Given the description of an element on the screen output the (x, y) to click on. 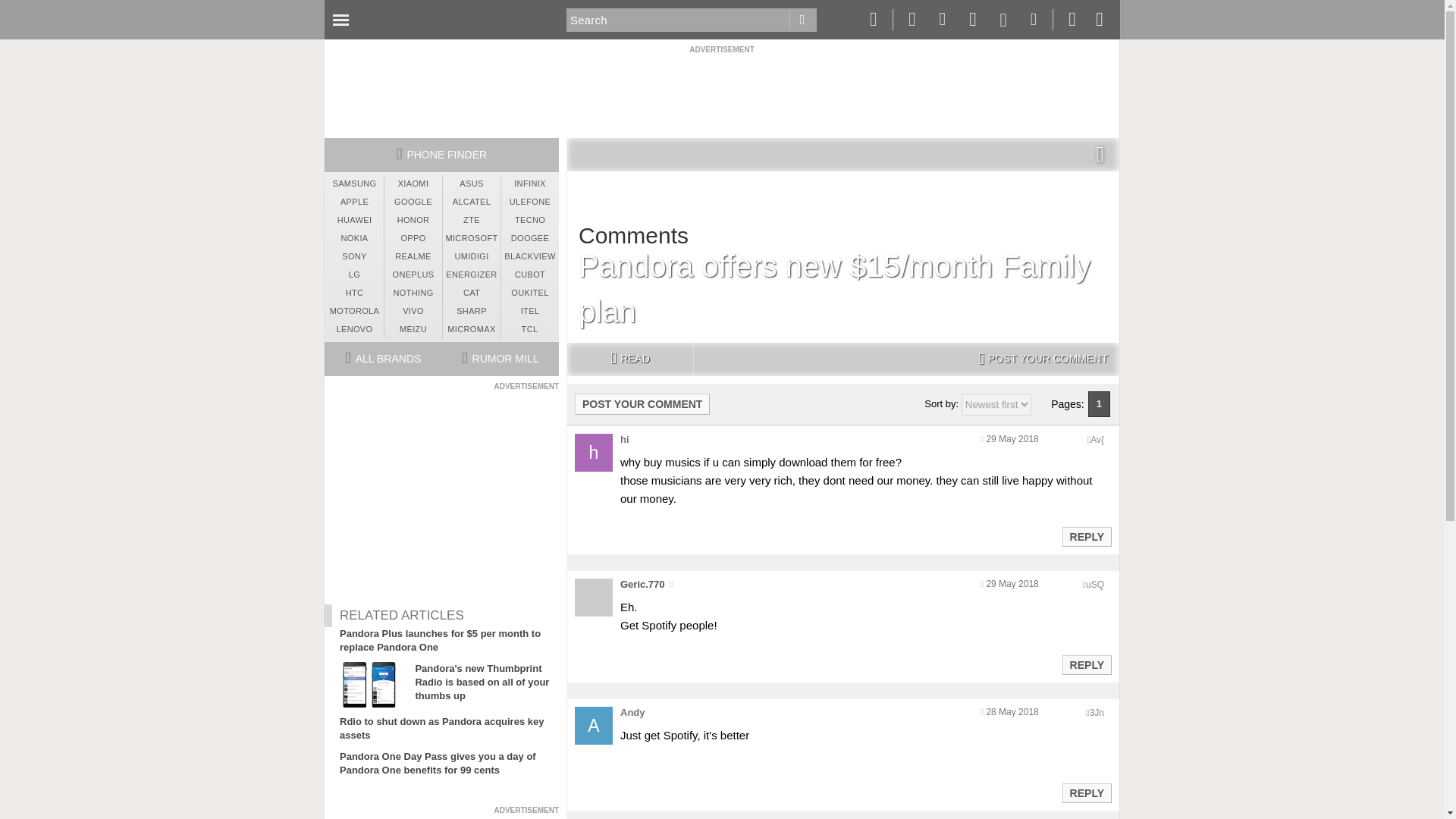
POST YOUR COMMENT (642, 403)
Go (802, 19)
Encoded anonymized location (1096, 712)
Geric.770 (642, 583)
Encoded anonymized location (1096, 439)
READ (630, 359)
Sort comments by (995, 404)
REPLY (1086, 665)
Encoded anonymized location (1094, 584)
APPLE (354, 202)
PHONE FINDER (441, 154)
POST YOUR COMMENT (1042, 359)
SAMSUNG (354, 184)
Reply to this post (1086, 793)
Go (802, 19)
